Given the description of an element on the screen output the (x, y) to click on. 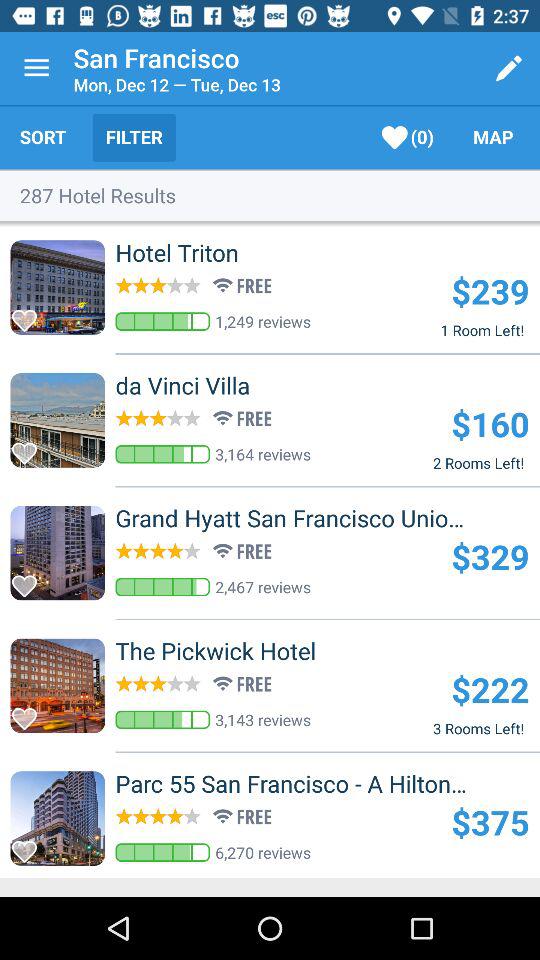
open icon to the right of 1,249 reviews (490, 290)
